Given the description of an element on the screen output the (x, y) to click on. 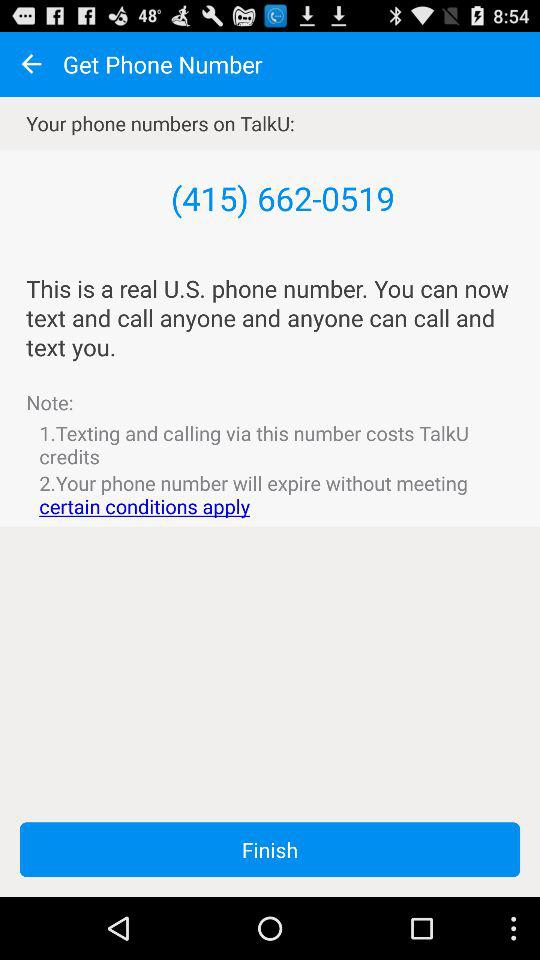
open the 2 your phone icon (269, 494)
